Given the description of an element on the screen output the (x, y) to click on. 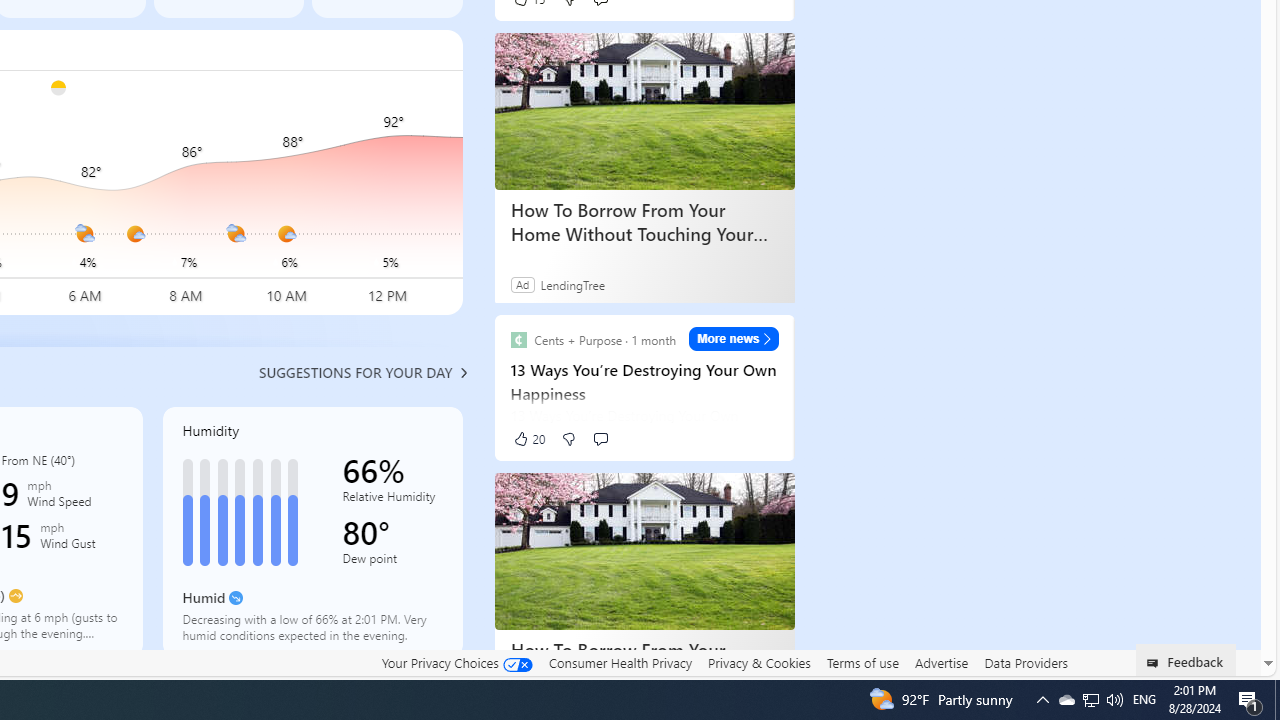
Data Providers (1025, 663)
How To Borrow From Your Home Without Touching Your Mortgage (644, 551)
Humidity (312, 531)
Dew point (391, 562)
Consumer Health Privacy (619, 662)
LendingTree (572, 284)
Your Privacy Choices (456, 662)
Terms of use (861, 663)
Privacy & Cookies (759, 663)
How To Borrow From Your Home Without Touching Your Mortgage (644, 661)
Data Providers (1025, 662)
Your Privacy Choices (456, 663)
